Given the description of an element on the screen output the (x, y) to click on. 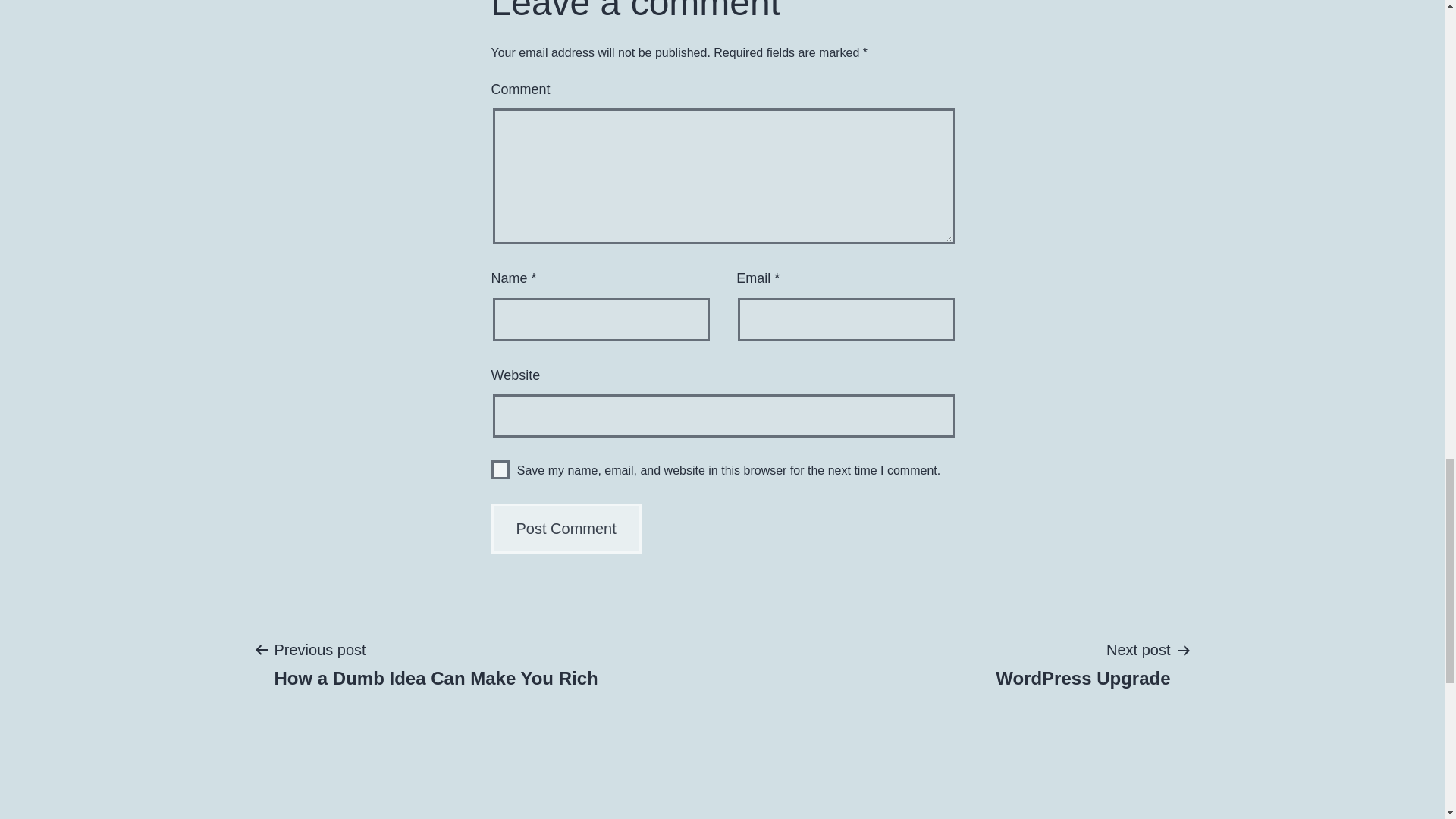
Post Comment (567, 528)
yes (500, 469)
Post Comment (435, 663)
